Given the description of an element on the screen output the (x, y) to click on. 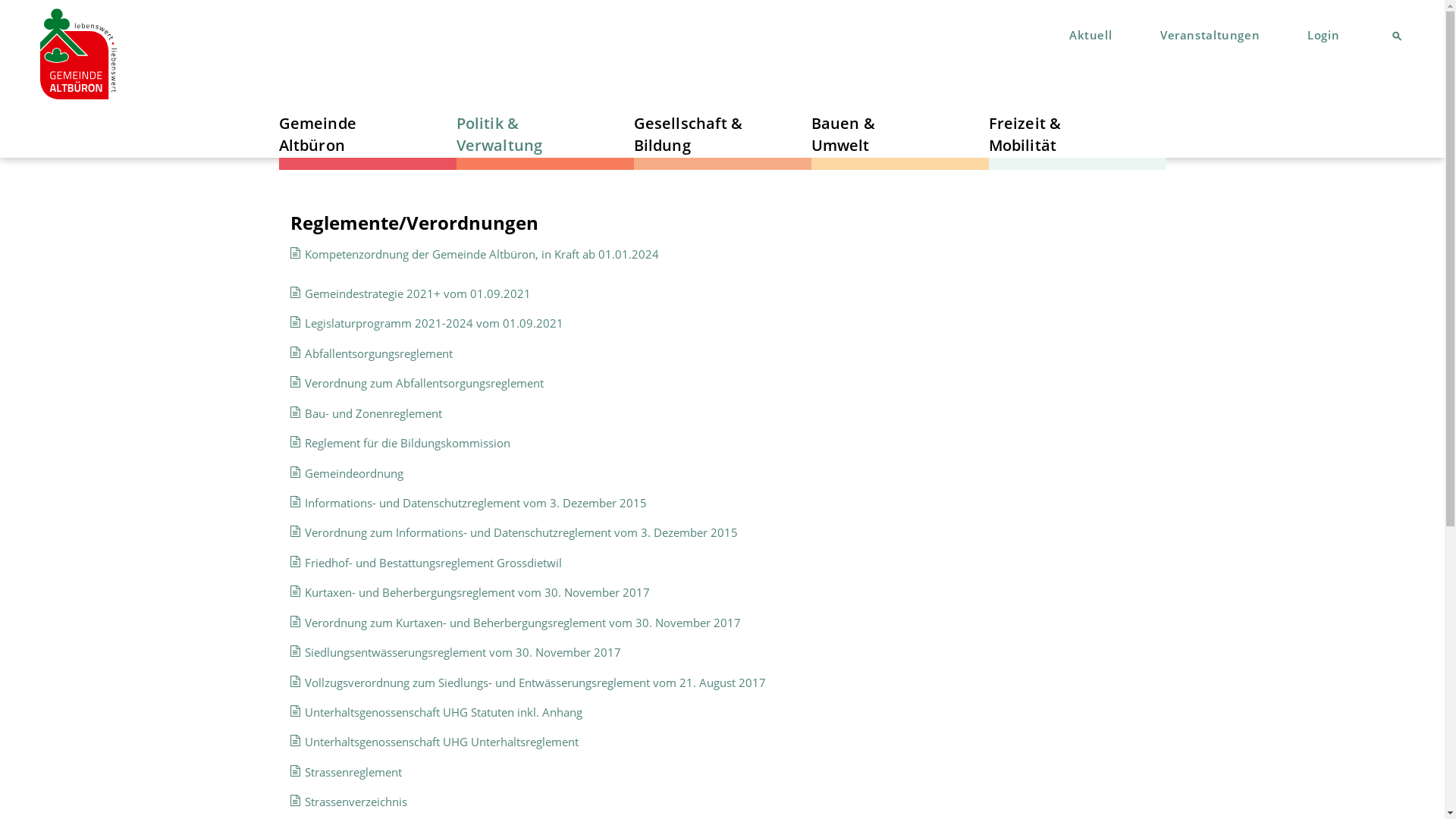
Abfallentsorgungsreglement Element type: text (378, 352)
Informations- und Datenschutzreglement vom 3. Dezember 2015 Element type: text (475, 502)
Gemeindeordnung Element type: text (353, 472)
Veranstaltungen Element type: text (1207, 34)
Login Element type: text (1322, 34)
Gemeindestrategie 2021+ vom 01.09.2021 Element type: text (417, 293)
Strassenverzeichnis Element type: text (355, 801)
Aktuell Element type: text (1088, 34)
Friedhof- und Bestattungsreglement Grossdietwil Element type: text (432, 562)
Startseite Element type: hover (78, 54)
Legislaturprogramm 2021-2024 vom 01.09.2021 Element type: text (433, 322)
Politik & Verwaltung Element type: text (516, 133)
Bau- und Zonenreglement Element type: text (373, 412)
Strassenreglement Element type: text (352, 771)
Bauen & Umwelt Element type: text (871, 133)
Verordnung zum Abfallentsorgungsreglement Element type: text (423, 382)
Unterhaltsgenossenschaft UHG Unterhaltsreglement Element type: text (441, 741)
Kurtaxen- und Beherbergungsreglement vom 30. November 2017 Element type: text (476, 591)
Gesellschaft & Bildung Element type: text (694, 133)
Unterhaltsgenossenschaft UHG Statuten inkl. Anhang Element type: text (443, 711)
